Given the description of an element on the screen output the (x, y) to click on. 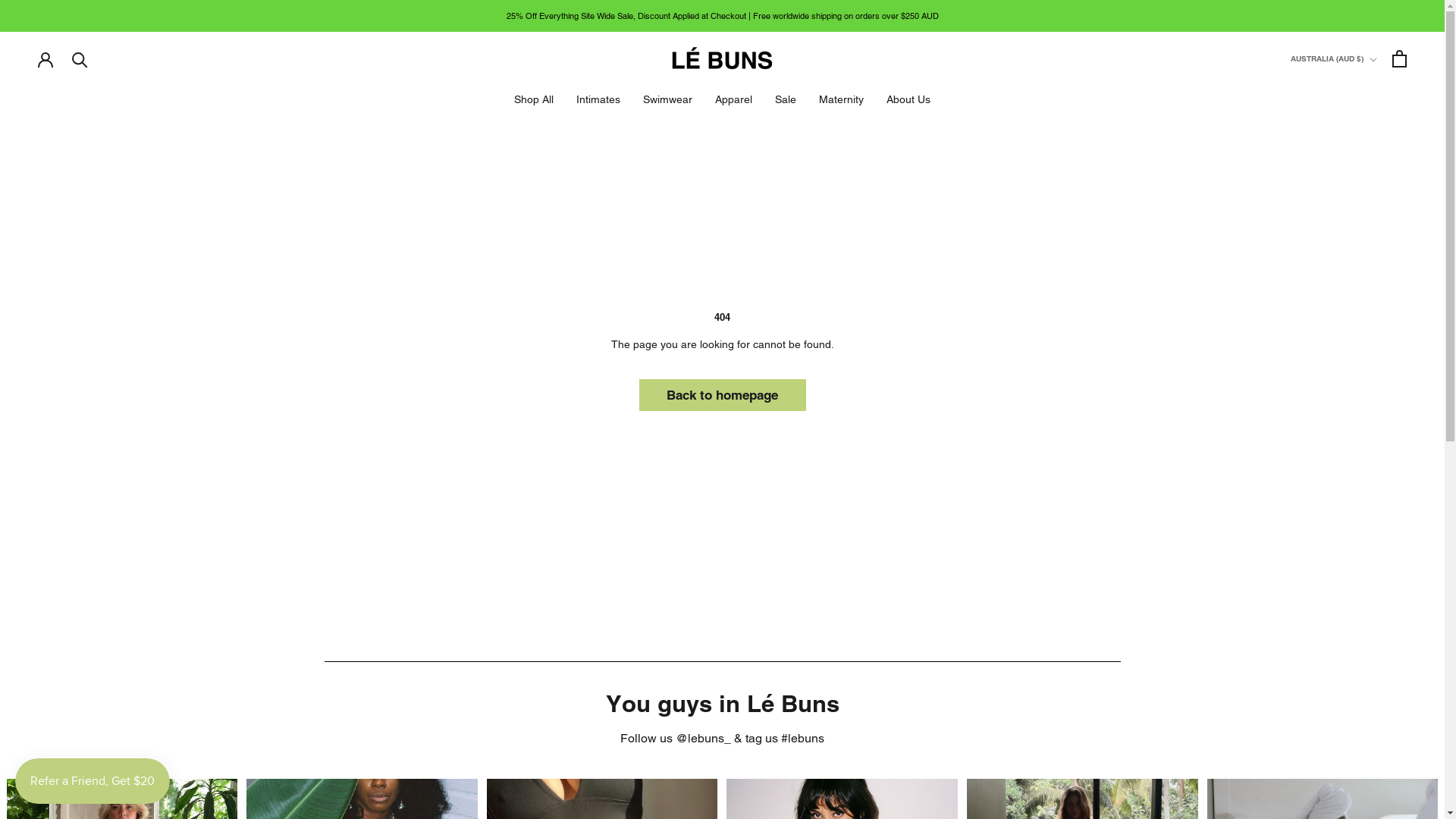
About Us
About Us Element type: text (908, 99)
@lebuns_ Element type: text (703, 738)
Back to homepage Element type: text (721, 395)
Shop All
Shop All Element type: text (533, 99)
Apparel
Apparel Element type: text (733, 99)
Maternity
Maternity Element type: text (841, 99)
AUSTRALIA (AUD $) Element type: text (1333, 59)
Intimates
Intimates Element type: text (598, 99)
Smile.io Rewards Program Launcher Element type: hover (92, 780)
Swimwear
Swimwear Element type: text (667, 99)
Sale
Sale Element type: text (785, 99)
